Given the description of an element on the screen output the (x, y) to click on. 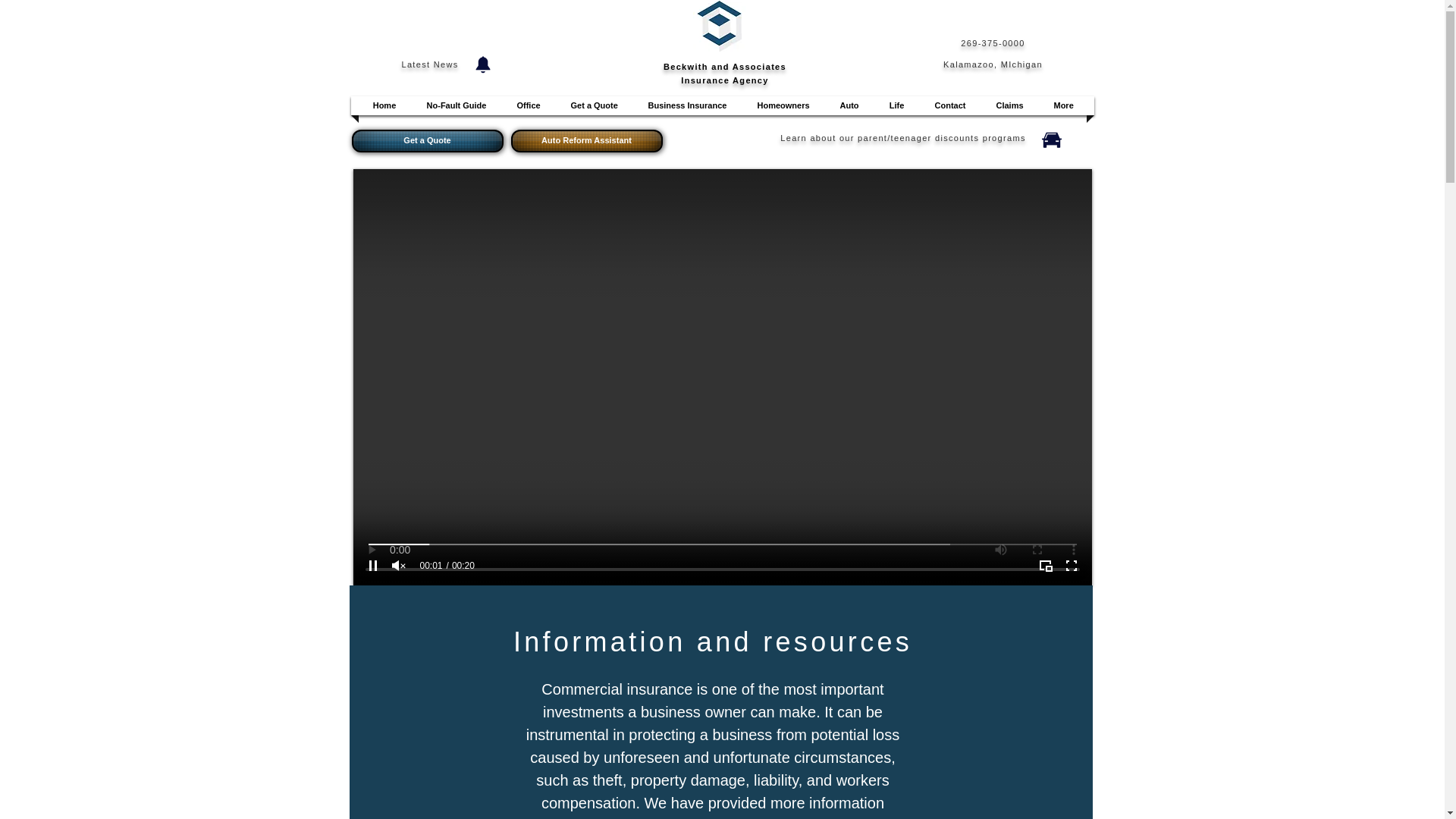
Business Insurance (687, 105)
Auto Reform Assistant (586, 140)
Speak to a commercial agent (716, 650)
Claims (1008, 105)
Contact (949, 105)
No-Fault Guide (455, 105)
Get a Quote (427, 140)
Homeowners (783, 105)
Life (896, 105)
Get a Quote (593, 105)
Auto (848, 105)
Office (528, 105)
Home (384, 105)
